Given the description of an element on the screen output the (x, y) to click on. 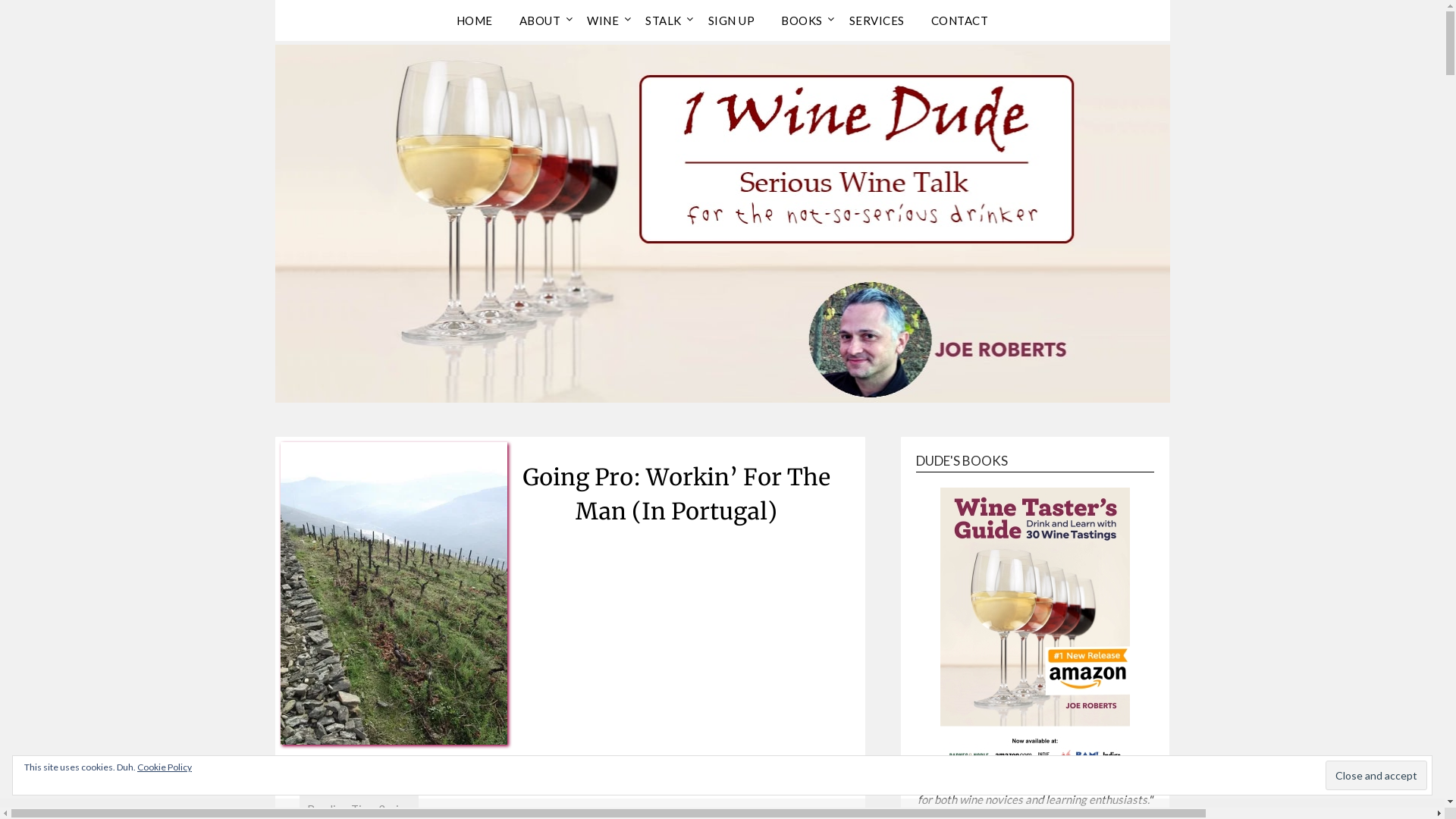
HOME Element type: text (474, 20)
BOOKS Element type: text (801, 20)
1 Wine Dude Element type: text (383, 53)
Close and accept Element type: text (1376, 775)
SERVICES Element type: text (876, 20)
CONTACT Element type: text (960, 20)
STALK Element type: text (663, 20)
February 9, 2011 Element type: text (600, 767)
SIGN UP Element type: text (731, 20)
WINE Element type: text (602, 20)
Cookie Policy Element type: text (164, 766)
ABOUT Element type: text (540, 20)
